Given the description of an element on the screen output the (x, y) to click on. 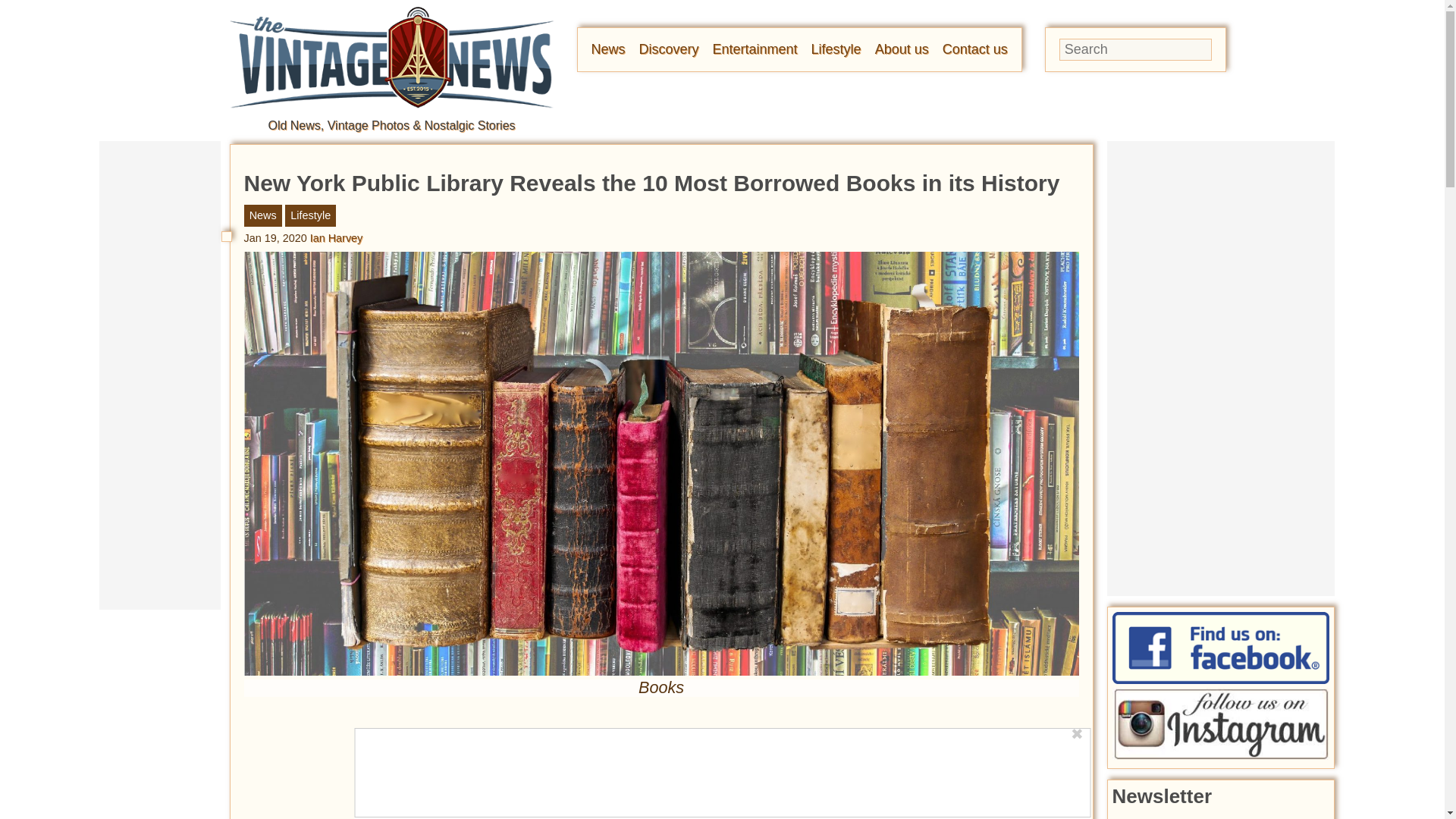
Discovery (668, 48)
About us (901, 48)
Contact us (974, 48)
News (608, 48)
Entertainment (755, 48)
Lifestyle (835, 48)
